Given the description of an element on the screen output the (x, y) to click on. 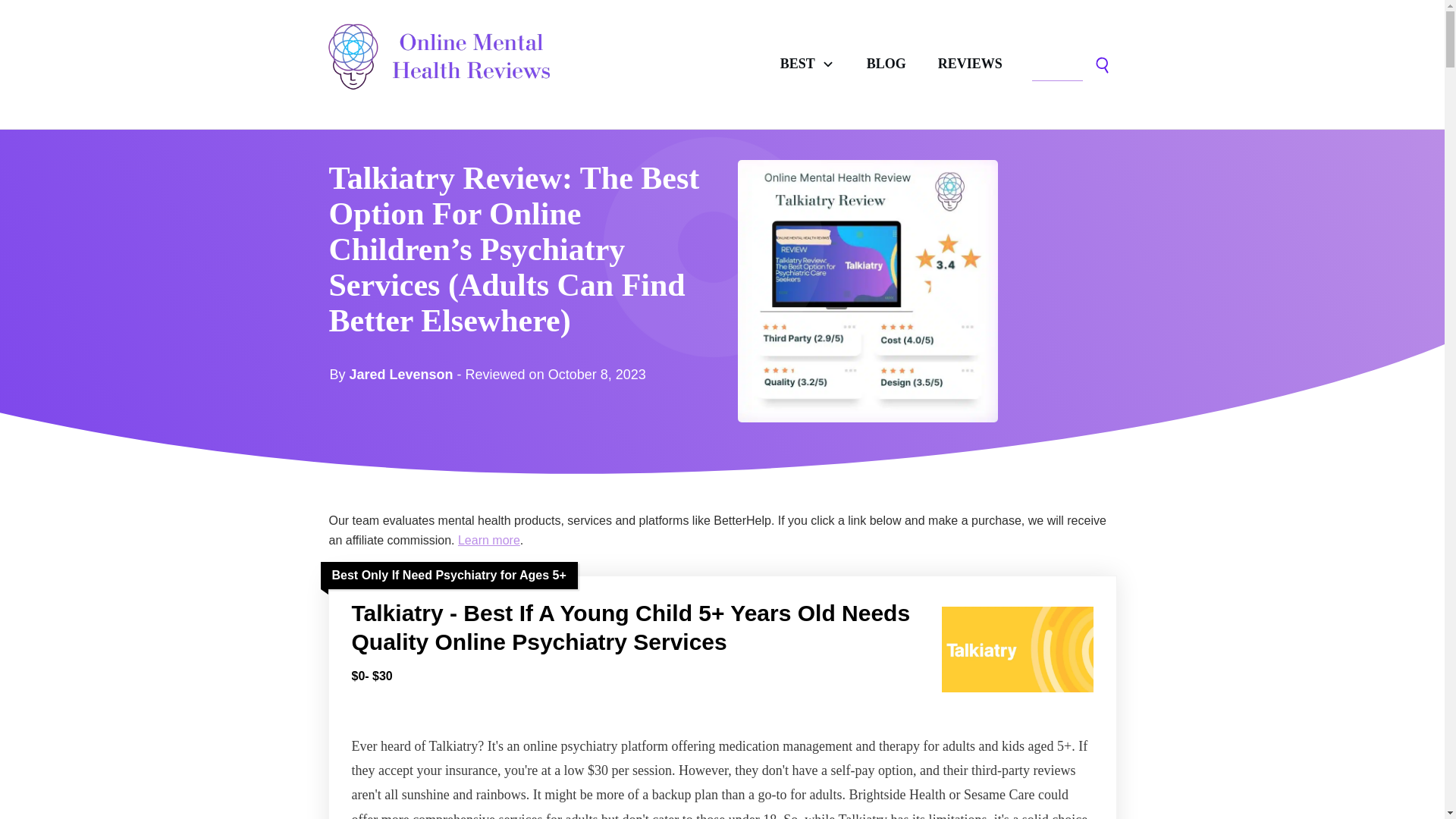
Learn more (488, 540)
Jared Levenson (400, 374)
BLOG (885, 64)
REVIEWS (970, 64)
BEST (807, 64)
